Given the description of an element on the screen output the (x, y) to click on. 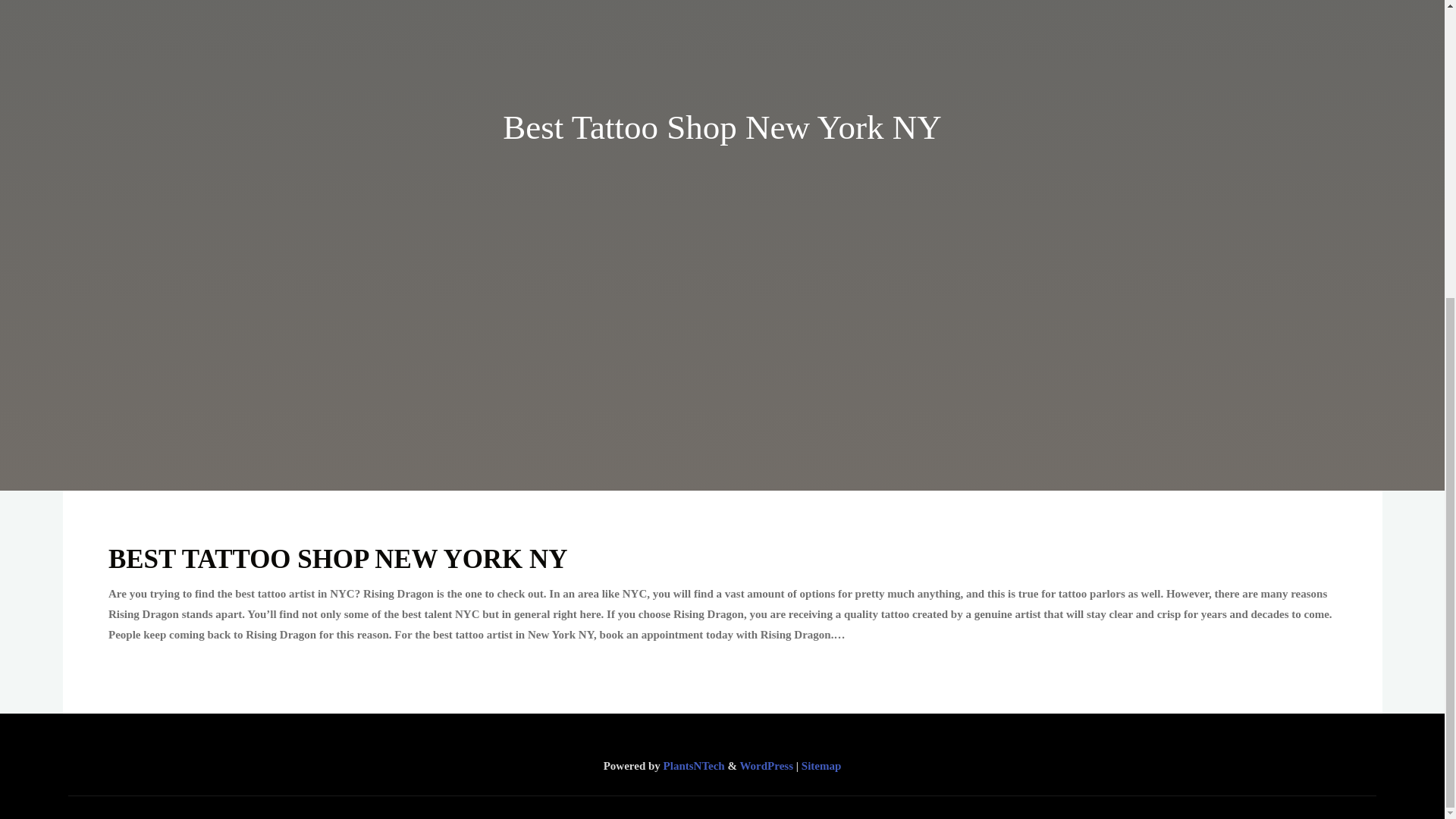
Semantic Personal Publishing Platform (766, 766)
Read more (721, 394)
PlantsNTech (693, 766)
